Given the description of an element on the screen output the (x, y) to click on. 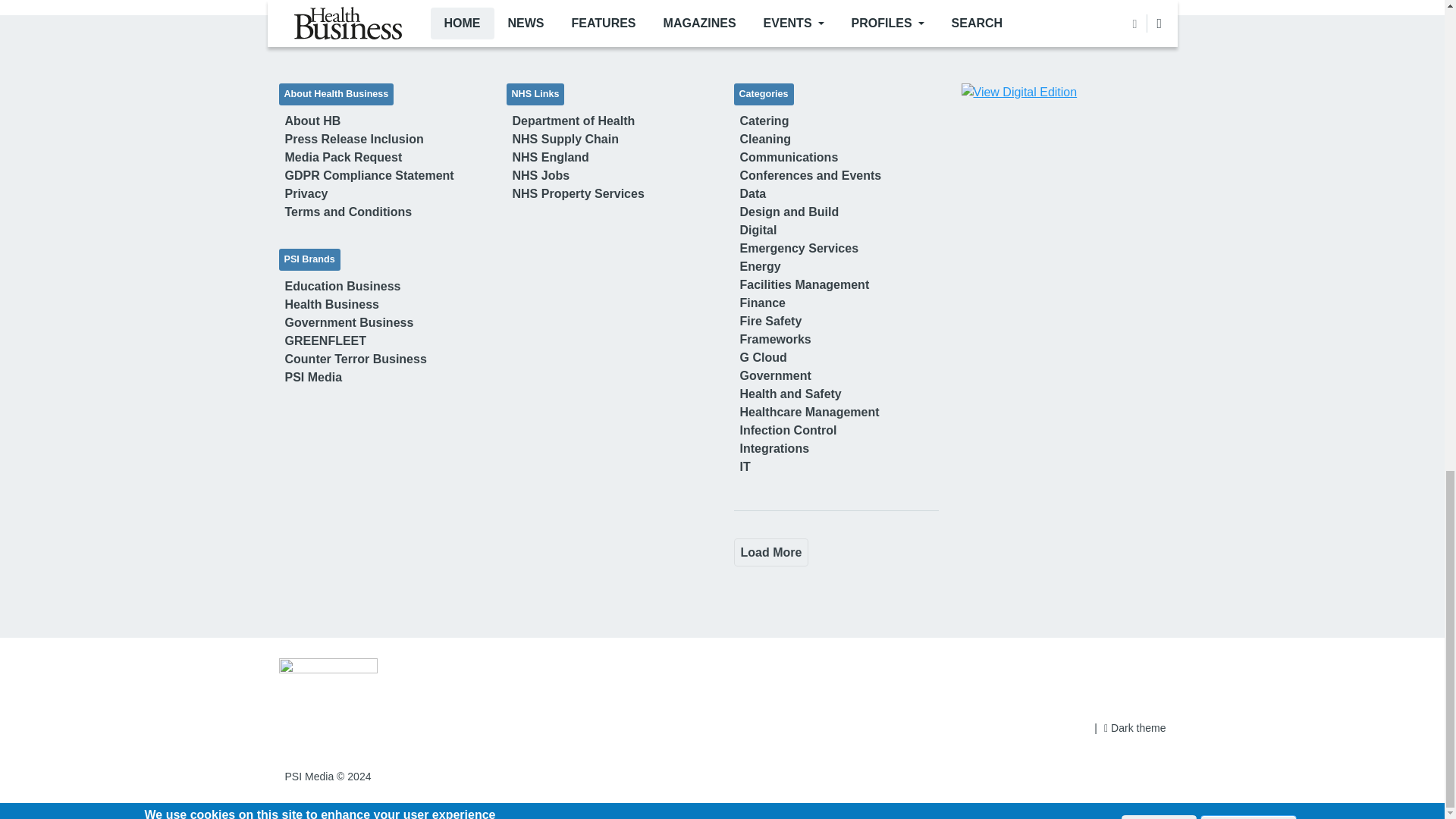
Press Release Inclusion (354, 138)
Go to next page (771, 552)
About HB (313, 120)
Media Pack Request (344, 156)
